Given the description of an element on the screen output the (x, y) to click on. 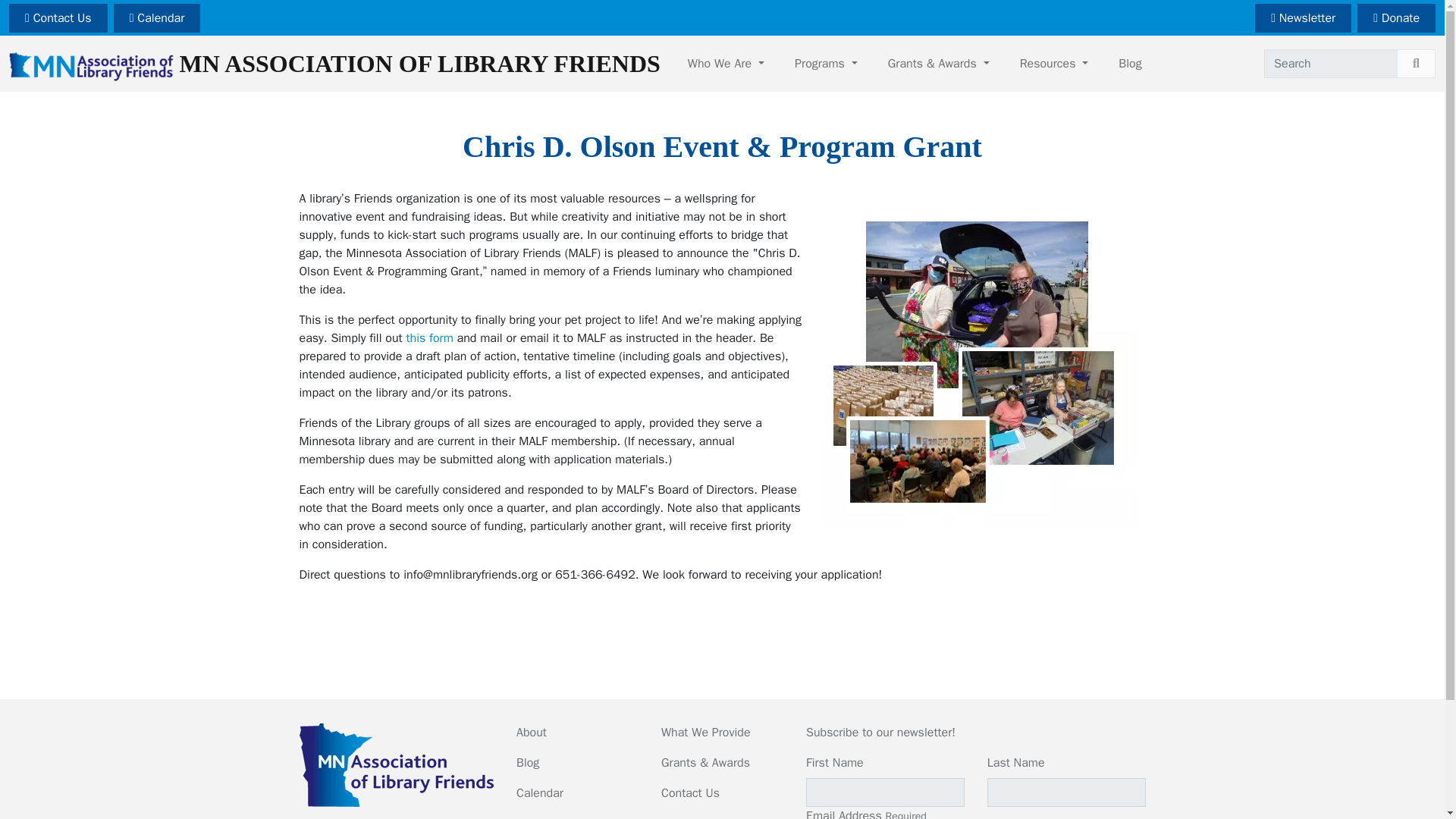
this form (429, 337)
What We Provide (706, 732)
About (531, 732)
Programs (825, 63)
Donate (1395, 18)
Calendar (539, 792)
Calendar (156, 18)
Blog (1129, 63)
Resources (1053, 63)
Who We Are (725, 63)
Contact Us (57, 18)
Join (526, 817)
Blog (527, 762)
Newsletter (1303, 18)
MN ASSOCIATION OF LIBRARY FRIENDS (334, 63)
